Given the description of an element on the screen output the (x, y) to click on. 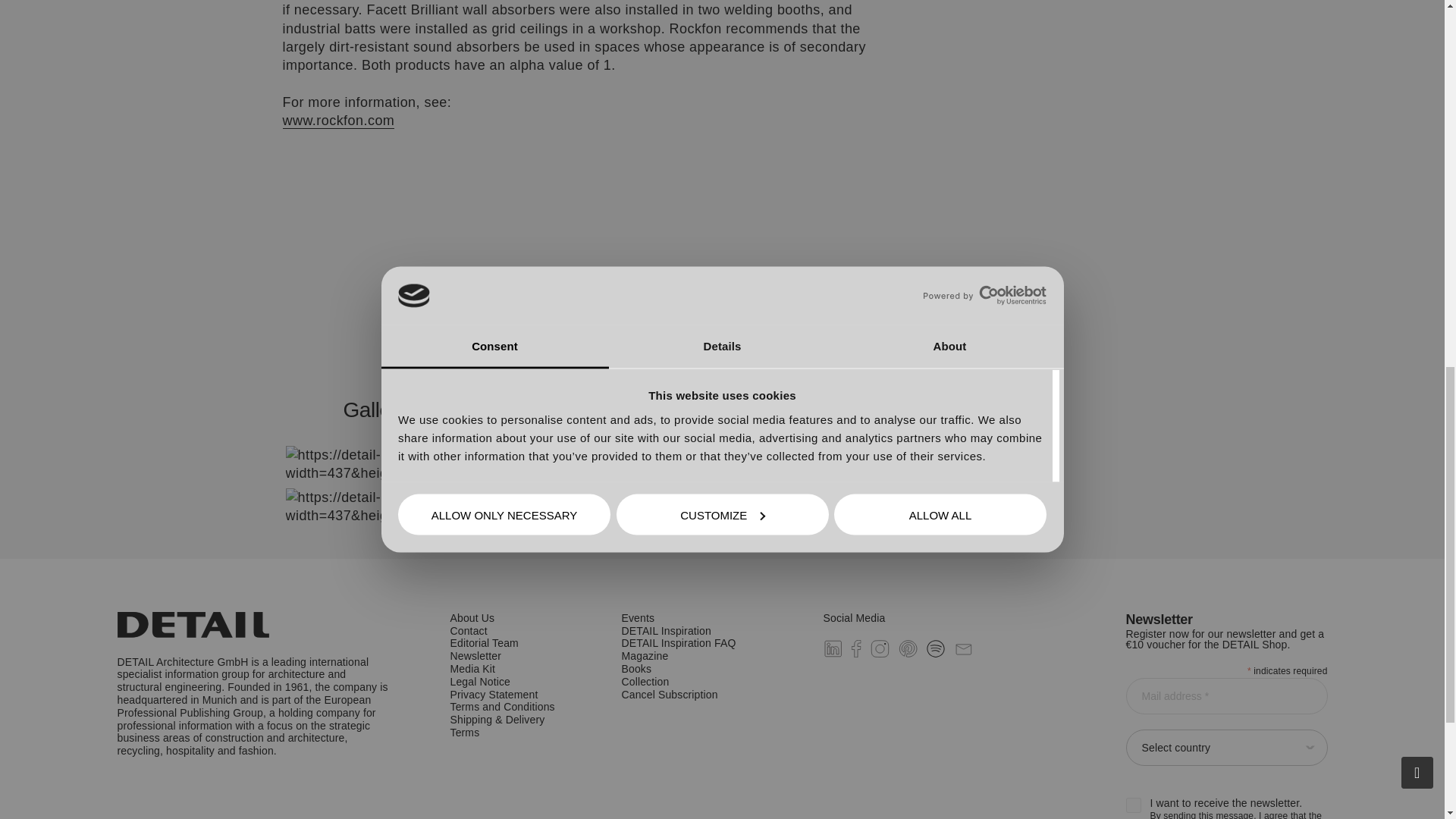
on (1132, 805)
